Given the description of an element on the screen output the (x, y) to click on. 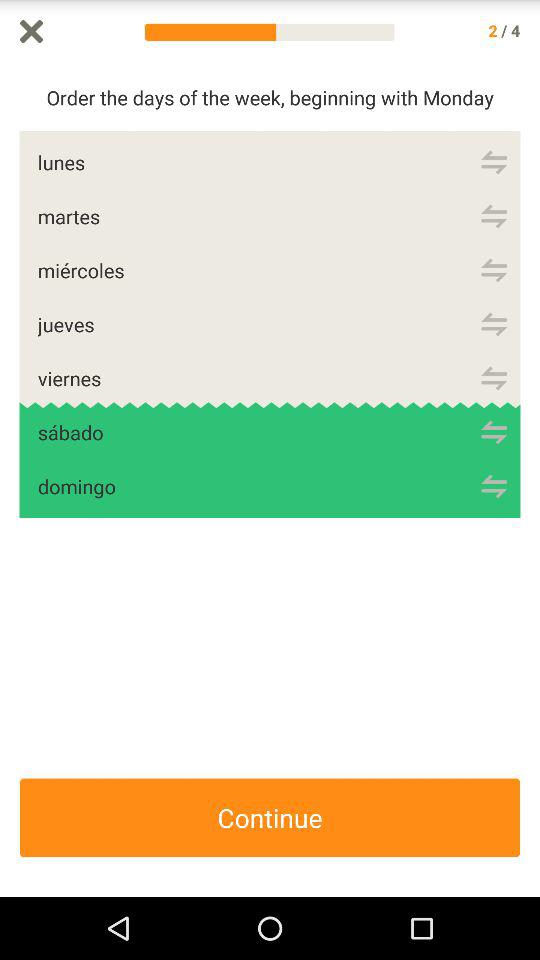
click on the icon which is right to lunes (494, 161)
select the symbol which is to the immediate right of martes (494, 216)
click on continue button (269, 817)
